Given the description of an element on the screen output the (x, y) to click on. 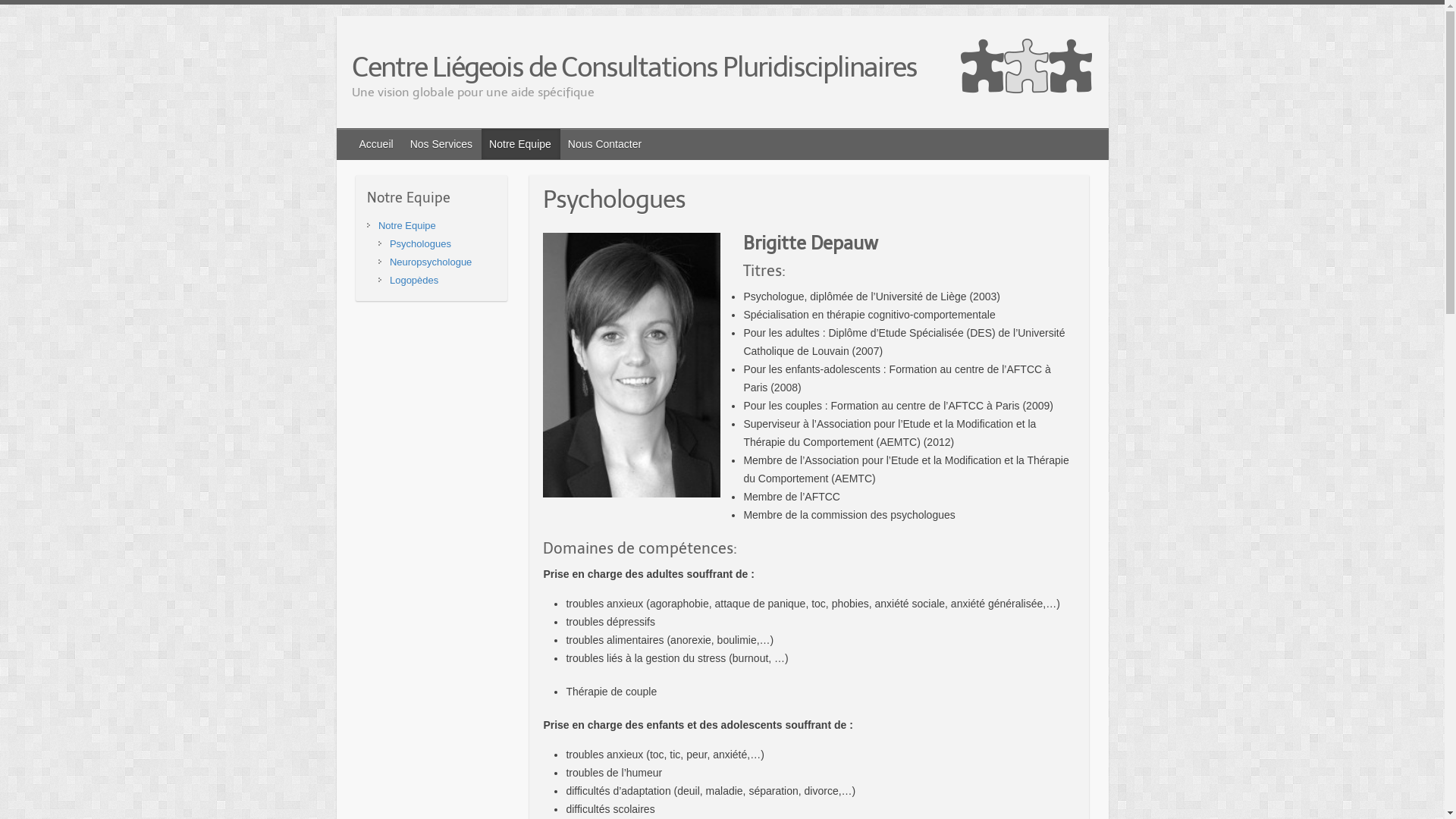
Notre Equipe Element type: text (520, 143)
Notre Equipe Element type: text (407, 225)
Psychologues Element type: text (420, 243)
Neuropsychologue Element type: text (430, 261)
Accueil Element type: text (376, 143)
Nous Contacter Element type: text (605, 143)
Nos Services Element type: text (441, 143)
